Given the description of an element on the screen output the (x, y) to click on. 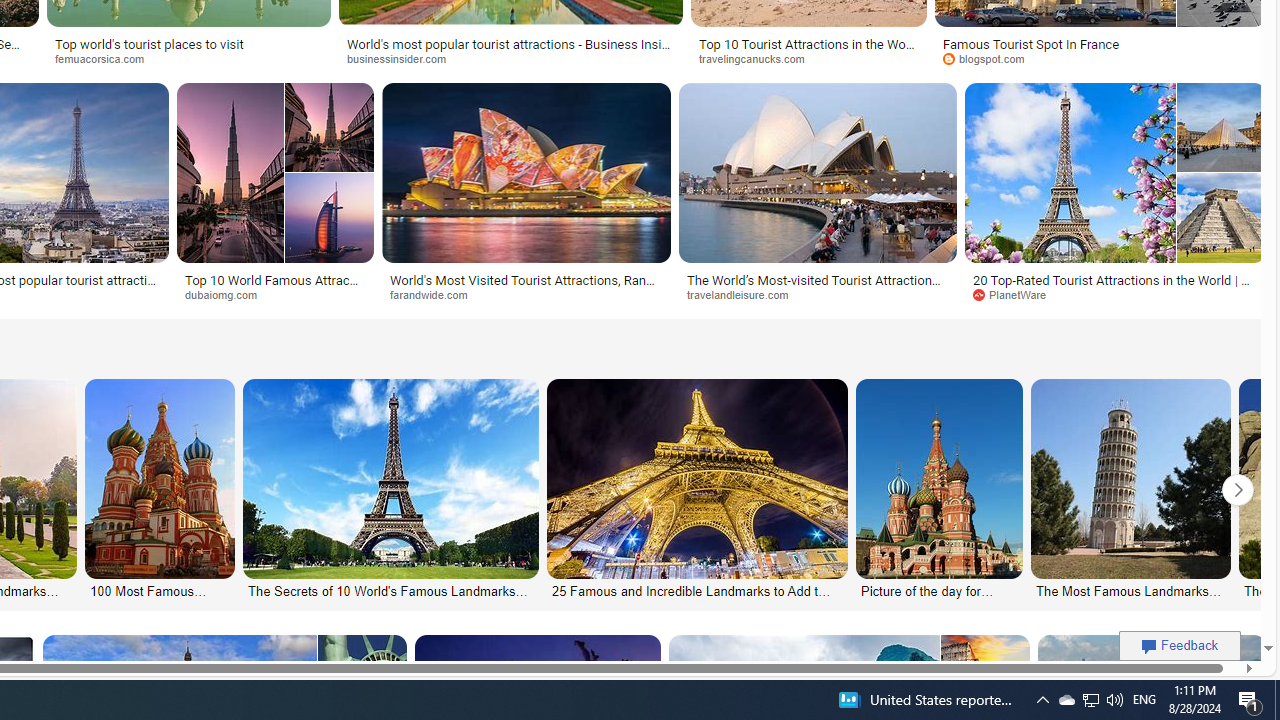
Click to scroll right (1238, 489)
Top 10 World Famous Attractions of Dubai (274, 286)
femuacorsica.com (106, 57)
blogspot.com (991, 57)
Top world's tourist places to visit (188, 44)
businessinsider.com (510, 58)
farandwide.com (526, 295)
